Given the description of an element on the screen output the (x, y) to click on. 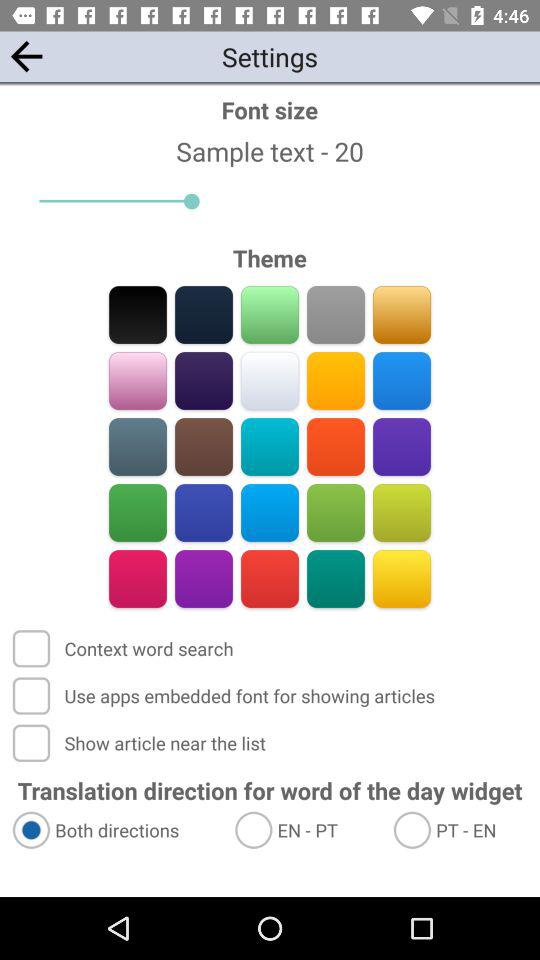
toggle and select color option (137, 380)
